Given the description of an element on the screen output the (x, y) to click on. 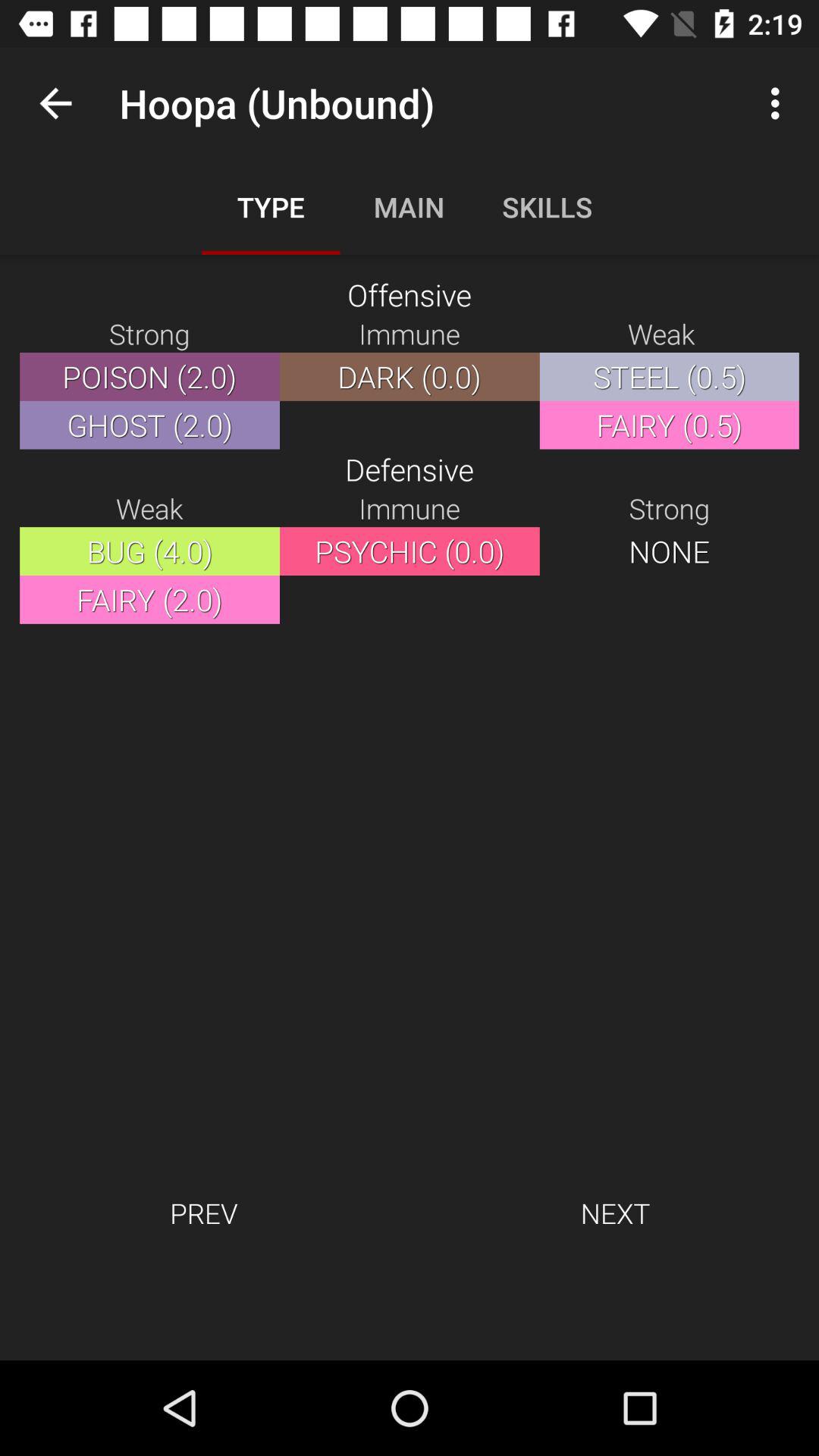
turn on item below the prev item (409, 1310)
